Given the description of an element on the screen output the (x, y) to click on. 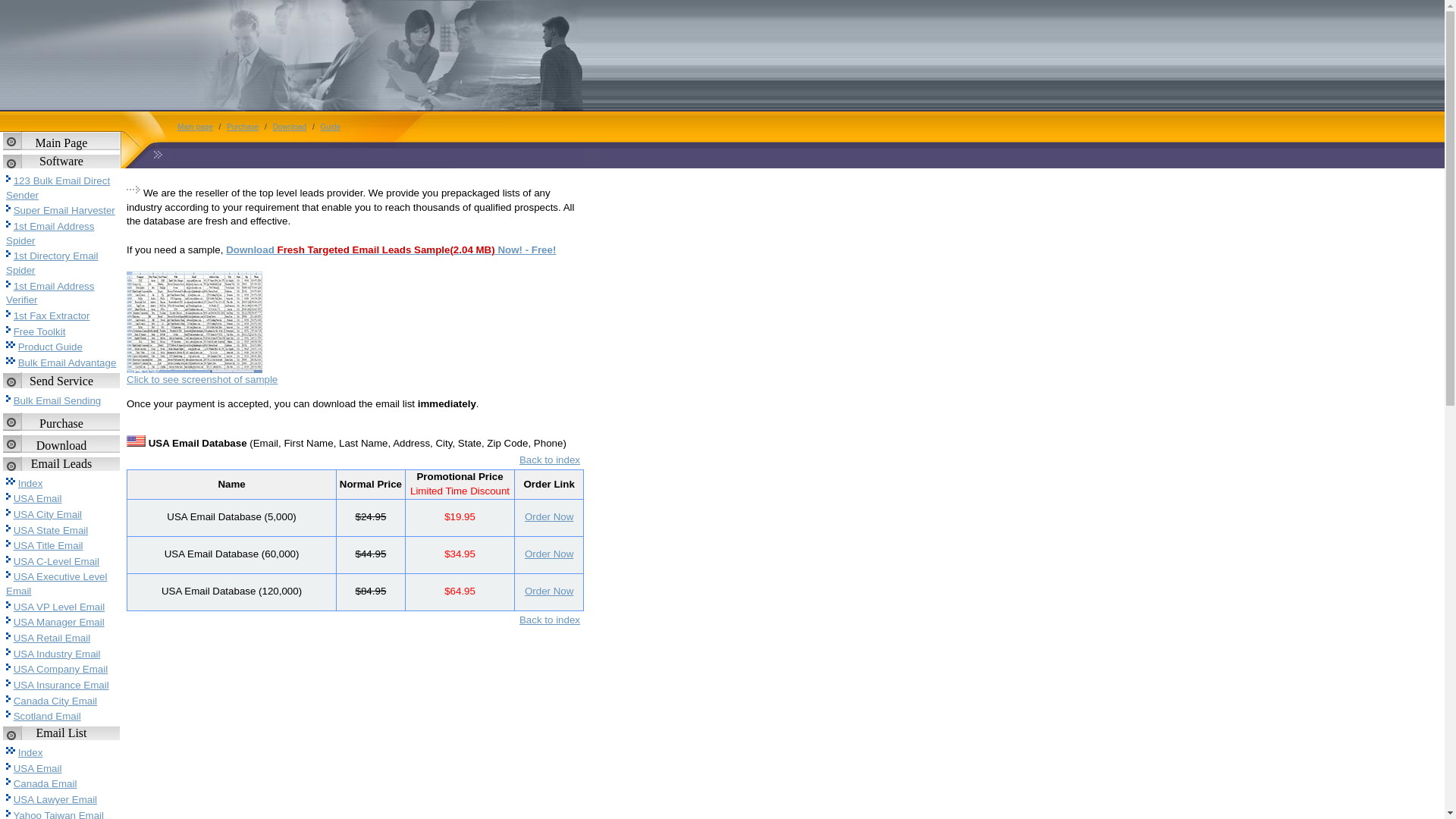
Purchase Element type: text (61, 423)
USA Retail Email Element type: text (51, 637)
Main Page Element type: text (61, 142)
Super Email Harvester Element type: text (64, 210)
Free Toolkit Element type: text (39, 331)
Back to index Element type: text (549, 459)
Order Now Element type: text (548, 516)
USA Insurance Email Element type: text (61, 684)
Product Guide Element type: text (50, 346)
Purchase Element type: text (242, 126)
Download Element type: text (289, 126)
USA Title Email Element type: text (48, 545)
Index Element type: text (30, 483)
USA State Email Element type: text (50, 530)
Scotland Email Element type: text (47, 715)
Canada City Email Element type: text (55, 700)
Index Element type: text (30, 752)
123 Bulk Email Direct Sender Element type: text (57, 187)
Bulk Email Advantage Element type: text (67, 362)
USA Industry Email Element type: text (56, 653)
USA Manager Email Element type: text (58, 621)
USA City Email Element type: text (47, 514)
Download Element type: text (61, 445)
Click to see screenshot of sample Element type: text (201, 379)
USA Executive Level Email Element type: text (56, 583)
Back to index Element type: text (549, 619)
Order Now Element type: text (548, 590)
Guide Element type: text (330, 126)
1st Directory Email Spider Element type: text (52, 263)
USA Email Element type: text (37, 498)
USA Company Email Element type: text (60, 668)
Main page Element type: text (194, 126)
USA VP Level Email Element type: text (59, 606)
USA Lawyer Email Element type: text (55, 799)
USA Email Element type: text (37, 768)
1st Email Address Spider Element type: text (50, 233)
Order Now Element type: text (548, 553)
1st Email Address Verifier Element type: text (50, 293)
USA C-Level Email Element type: text (56, 561)
1st Fax Extractor Element type: text (51, 315)
Canada Email Element type: text (45, 783)
Bulk Email Sending Element type: text (57, 400)
